Given the description of an element on the screen output the (x, y) to click on. 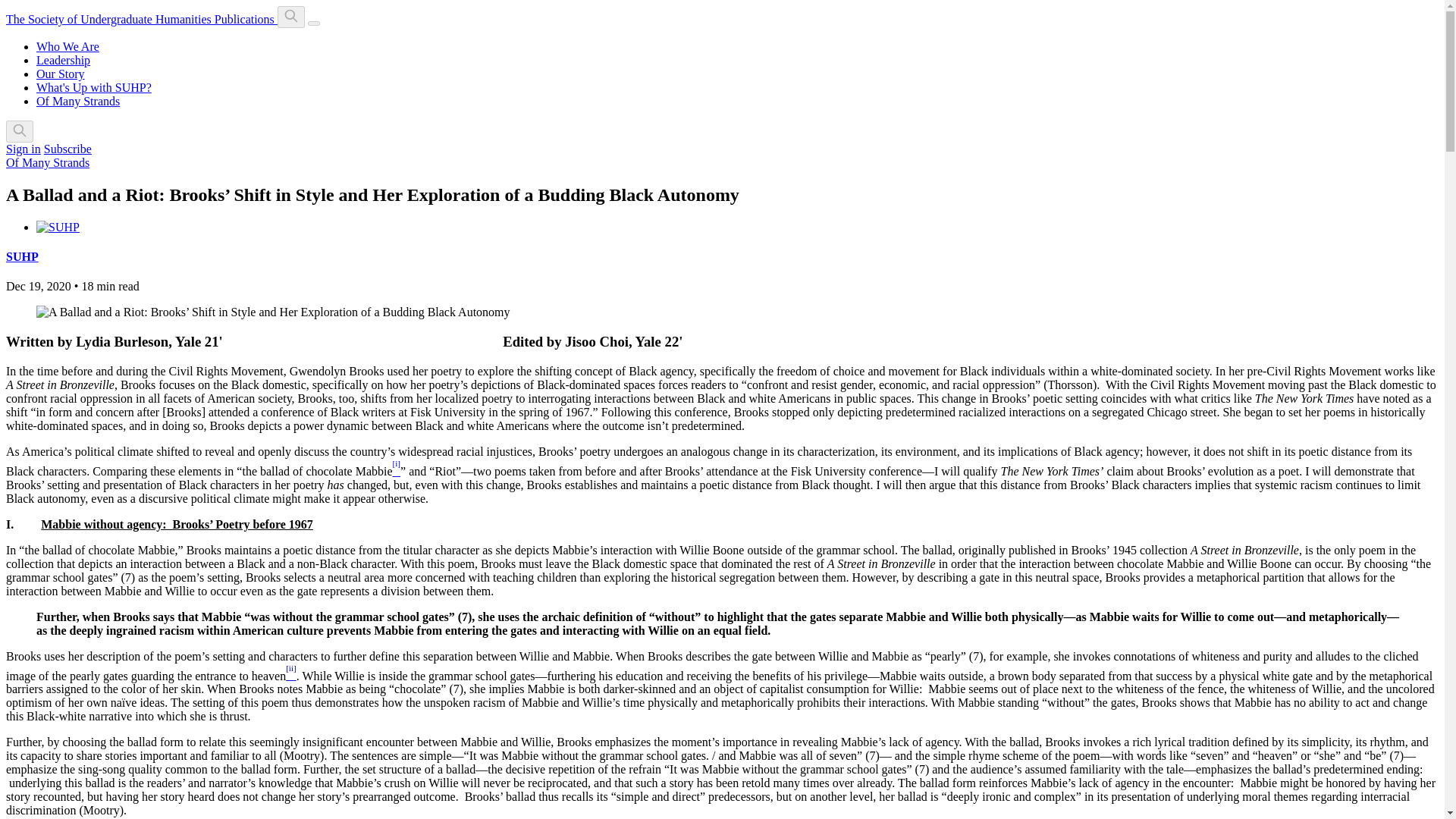
Of Many Strands (46, 162)
Subscribe (67, 148)
SUHP (22, 256)
What's Up with SUHP? (93, 87)
The Society of Undergraduate Humanities Publications (141, 19)
Sign in (22, 148)
Who We Are (67, 46)
Of Many Strands (77, 101)
Our Story (60, 73)
Leadership (63, 60)
